Given the description of an element on the screen output the (x, y) to click on. 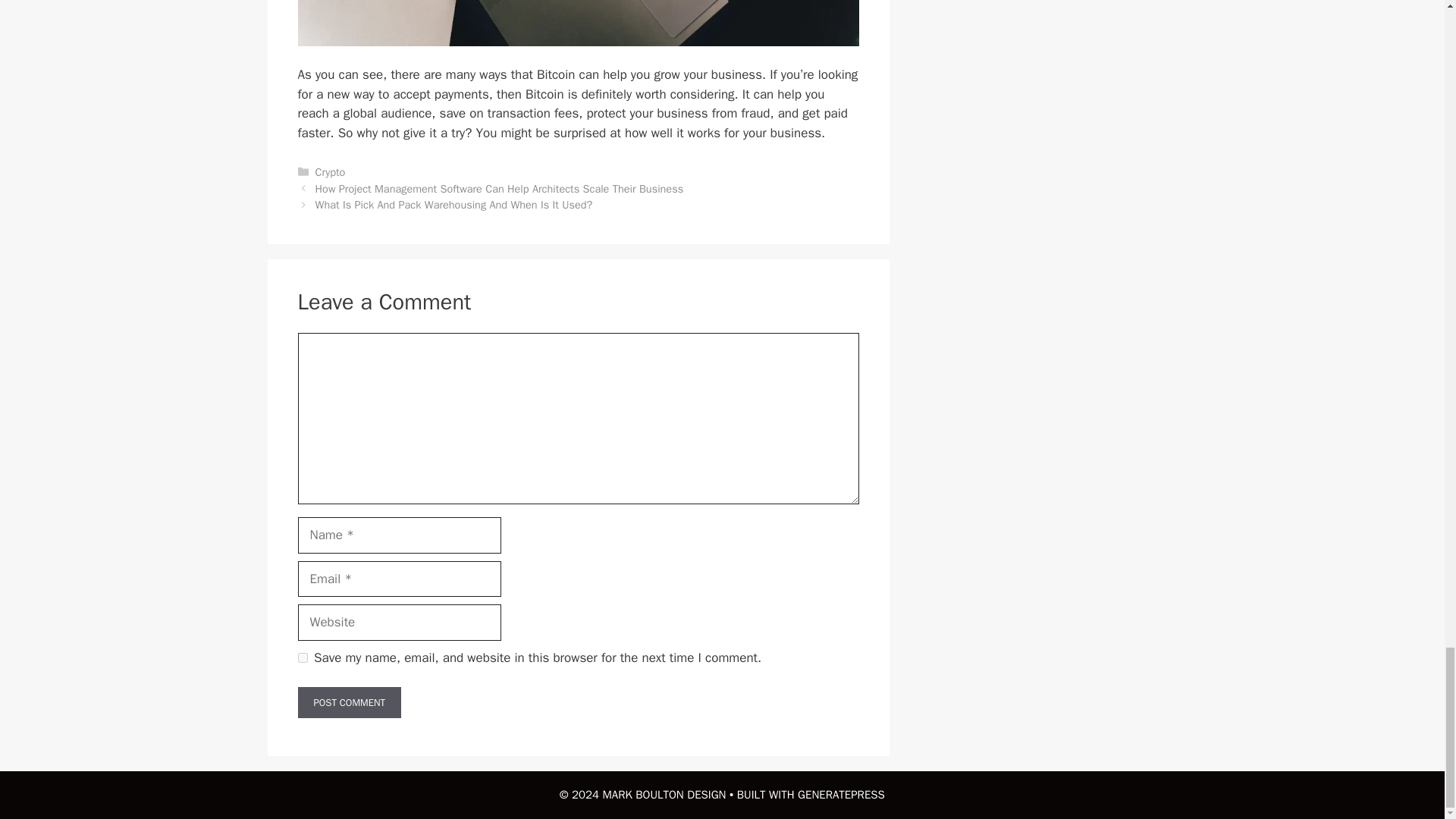
Post Comment (349, 703)
What Is Pick And Pack Warehousing And When Is It Used? (453, 204)
GENERATEPRESS (841, 794)
yes (302, 657)
Crypto (330, 172)
Post Comment (349, 703)
